Given the description of an element on the screen output the (x, y) to click on. 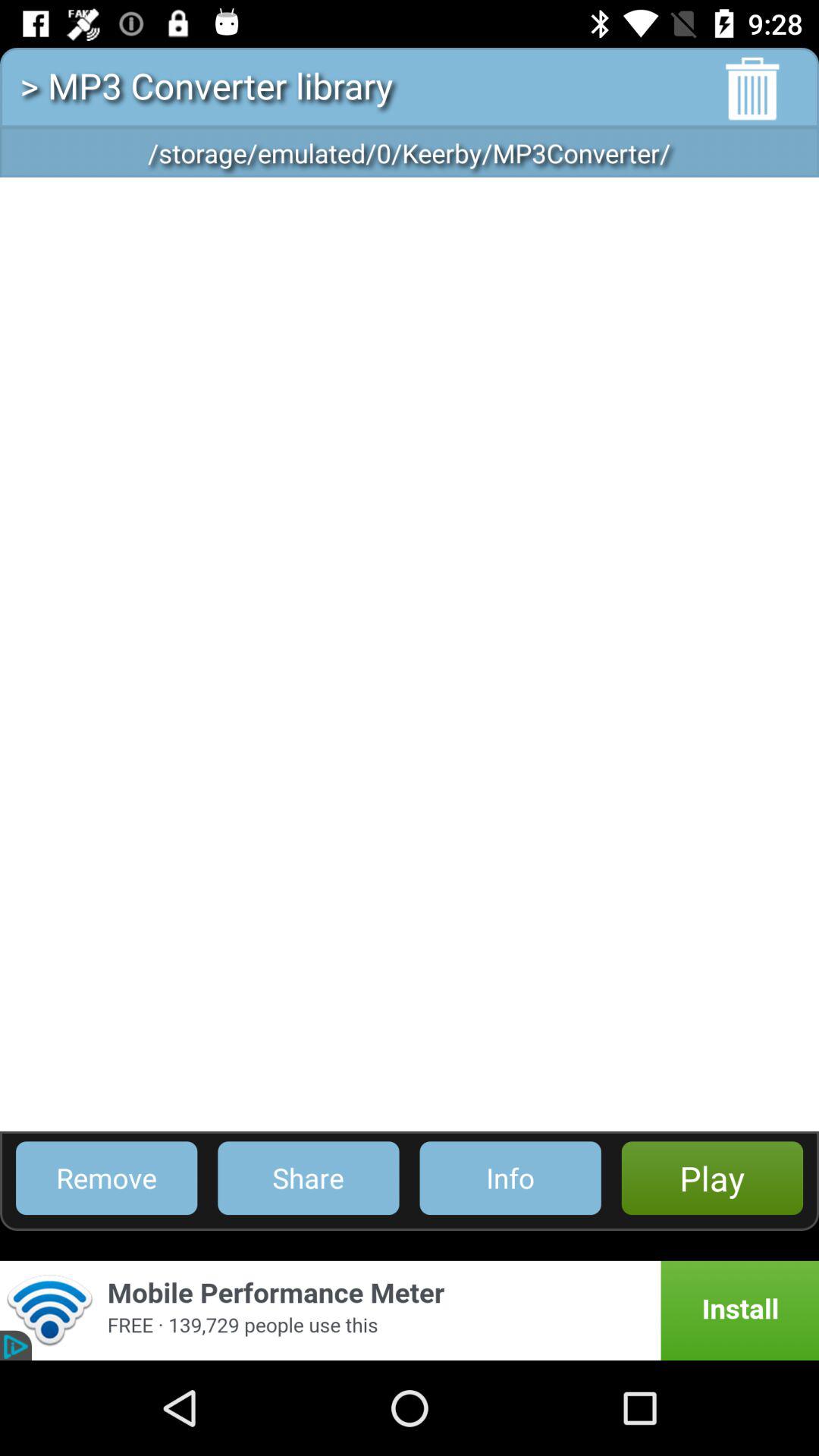
swipe to info item (510, 1177)
